Given the description of an element on the screen output the (x, y) to click on. 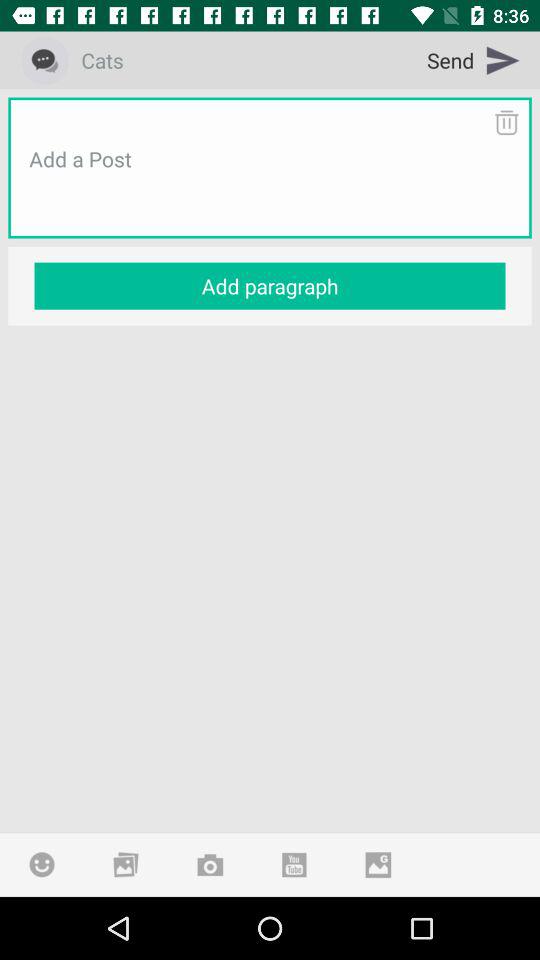
select send (474, 60)
